Given the description of an element on the screen output the (x, y) to click on. 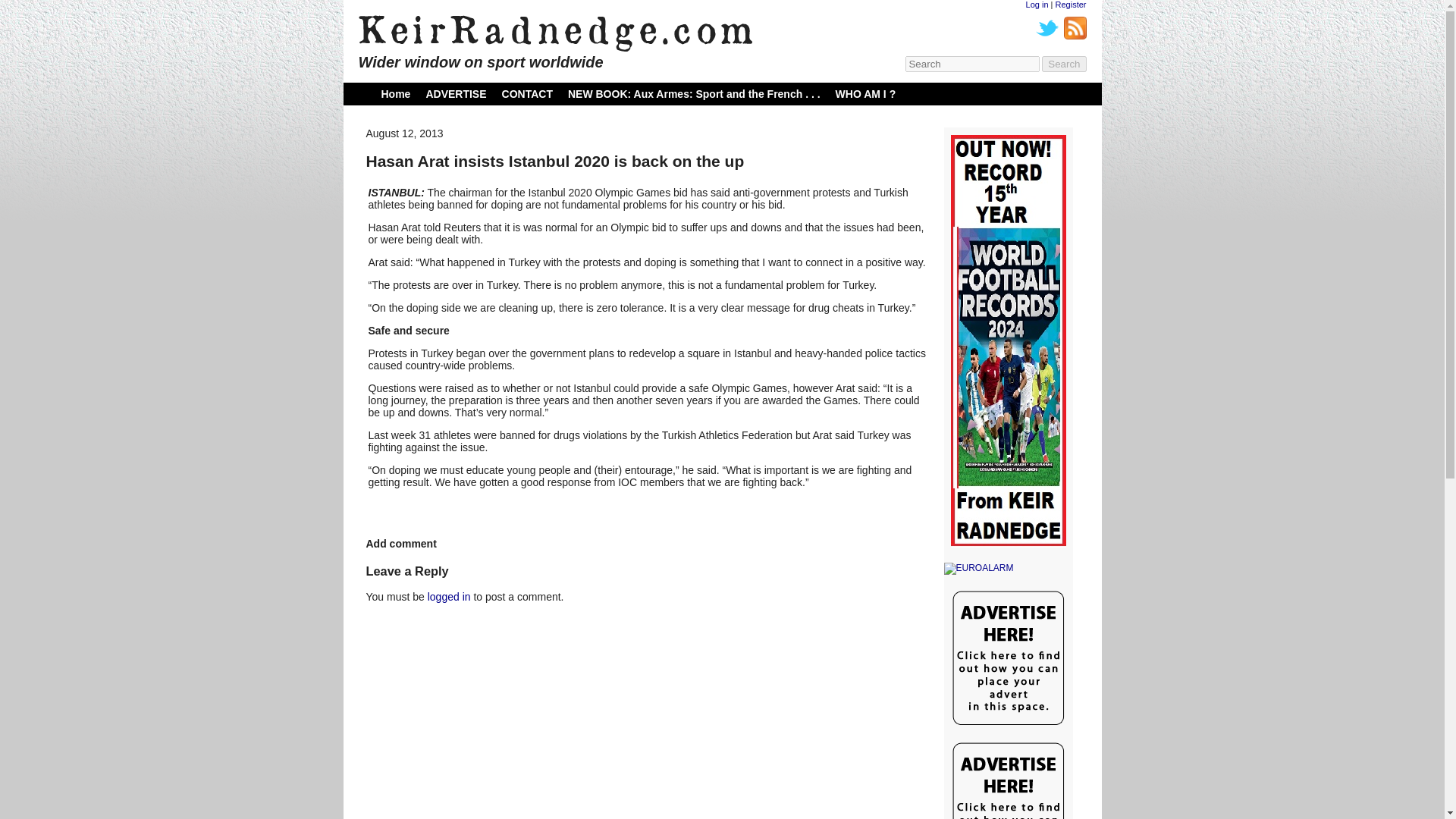
Log in (1037, 4)
ADVERTISE (455, 93)
Search (1064, 64)
Search (1064, 64)
Register (1070, 4)
logged in (449, 596)
EUROALARM (1007, 568)
Home (395, 93)
CONTACT (527, 93)
WHO AM I ? (865, 93)
